Given the description of an element on the screen output the (x, y) to click on. 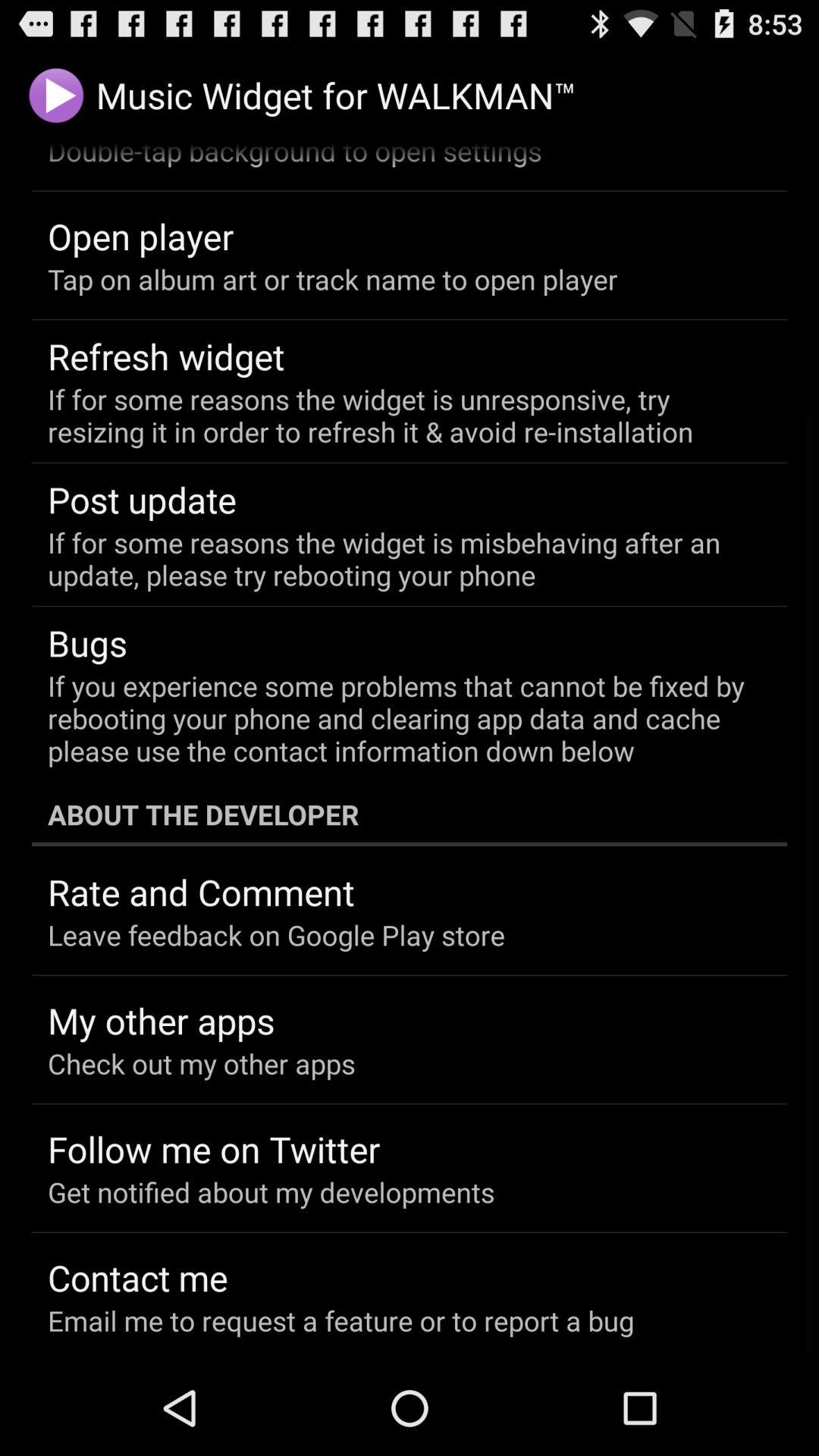
tap the app above the follow me on (201, 1063)
